Given the description of an element on the screen output the (x, y) to click on. 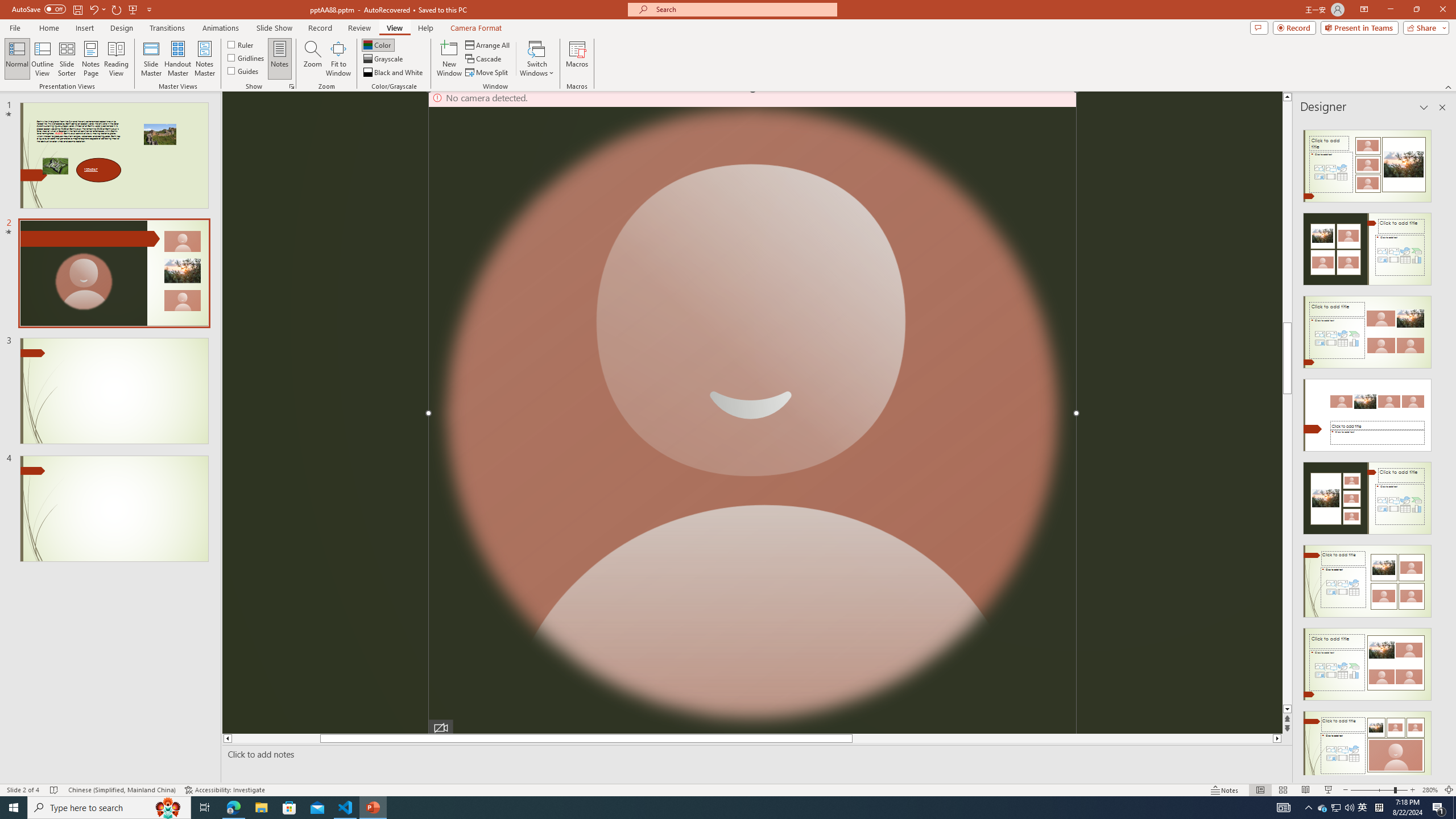
New Window (449, 58)
Insert (83, 28)
Save (77, 9)
Handout Master (177, 58)
Decorative Locked (752, 412)
Zoom In (1412, 790)
Close pane (1441, 107)
Restore Down (1416, 9)
Line down (1287, 709)
Class: MsoCommandBar (728, 789)
Zoom... (312, 58)
Present in Teams (1359, 27)
